Given the description of an element on the screen output the (x, y) to click on. 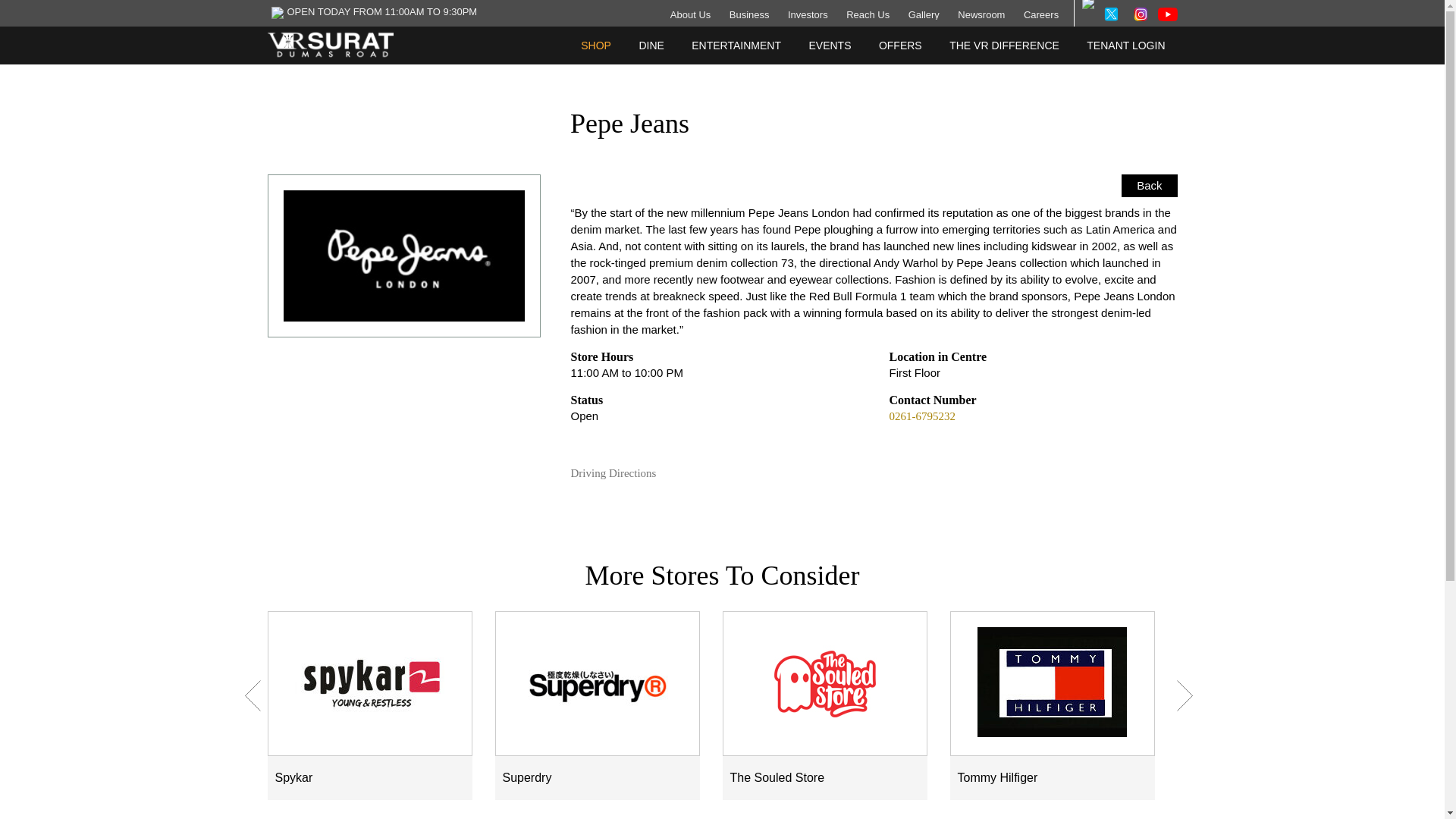
Driving Directions (620, 472)
THE VR DIFFERENCE (1004, 45)
Business (749, 14)
Careers (1040, 14)
Pepe Jeans (402, 255)
DINE (650, 45)
Superdry (596, 682)
SHOP (596, 45)
Reach Us (867, 14)
Spykar (369, 682)
ENTERTAINMENT (736, 45)
Investors (807, 14)
About Us (689, 14)
OFFERS (900, 45)
The Souled Store (824, 682)
